Given the description of an element on the screen output the (x, y) to click on. 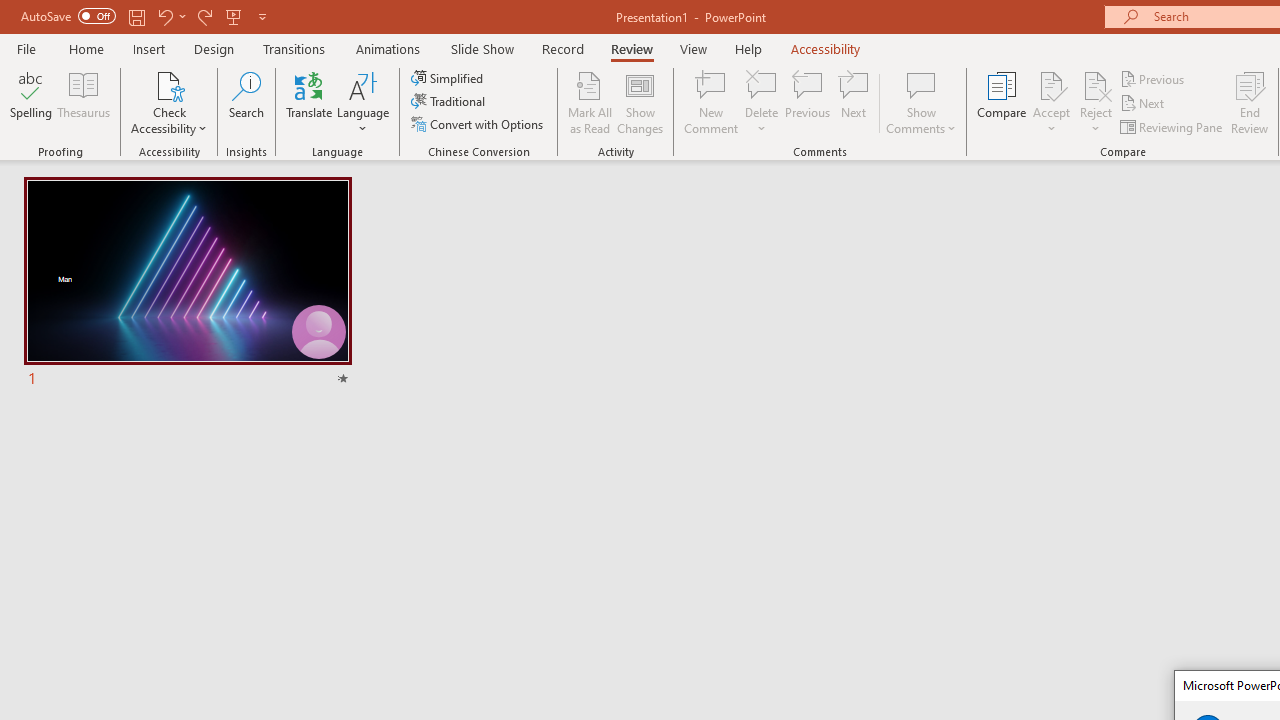
Next (1144, 103)
Reviewing Pane (1172, 126)
New Comment (711, 102)
Simplified (449, 78)
Mark All as Read (589, 102)
Translate (309, 102)
